Given the description of an element on the screen output the (x, y) to click on. 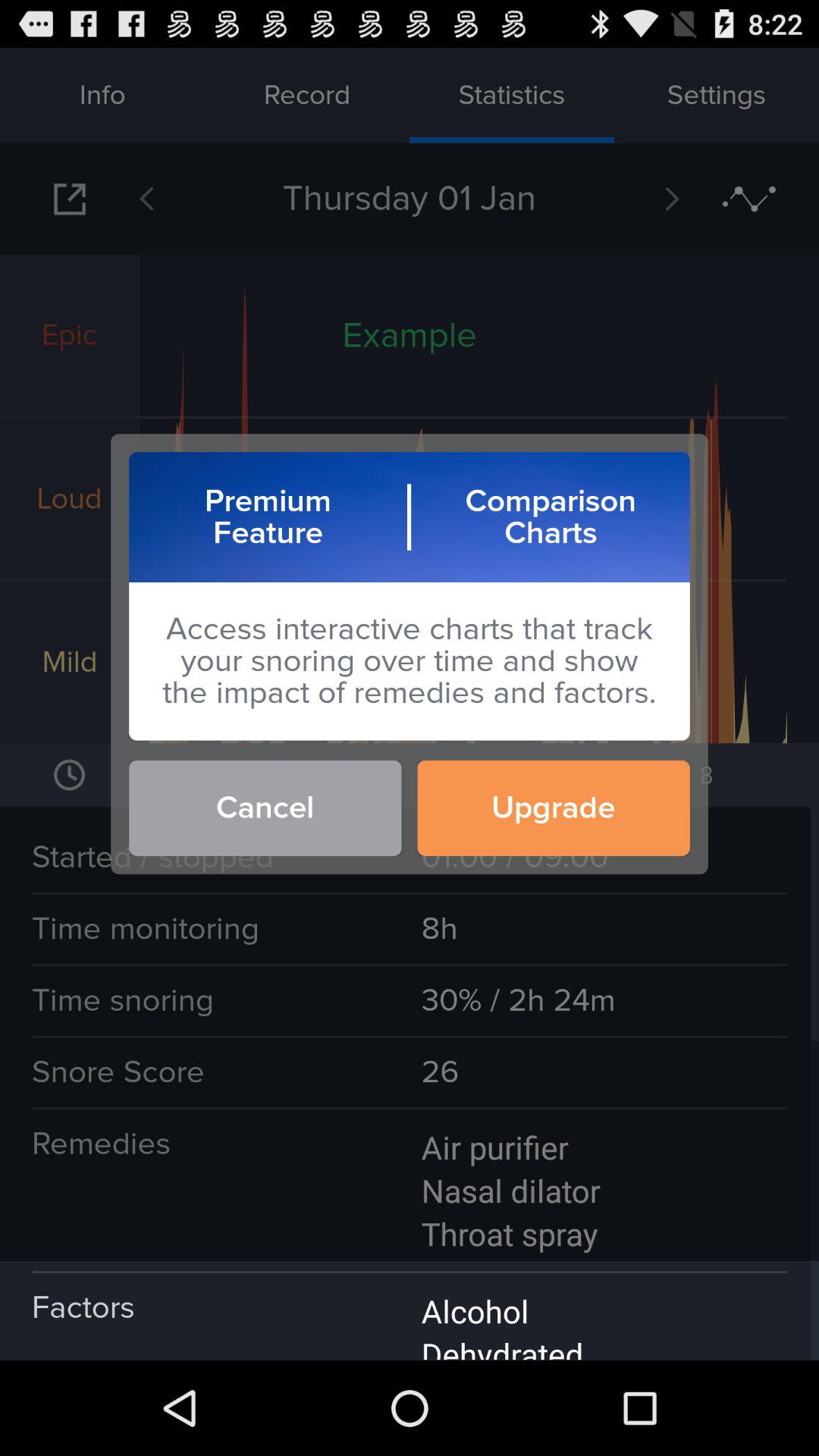
open the item below the cancel (409, 1310)
